Given the description of an element on the screen output the (x, y) to click on. 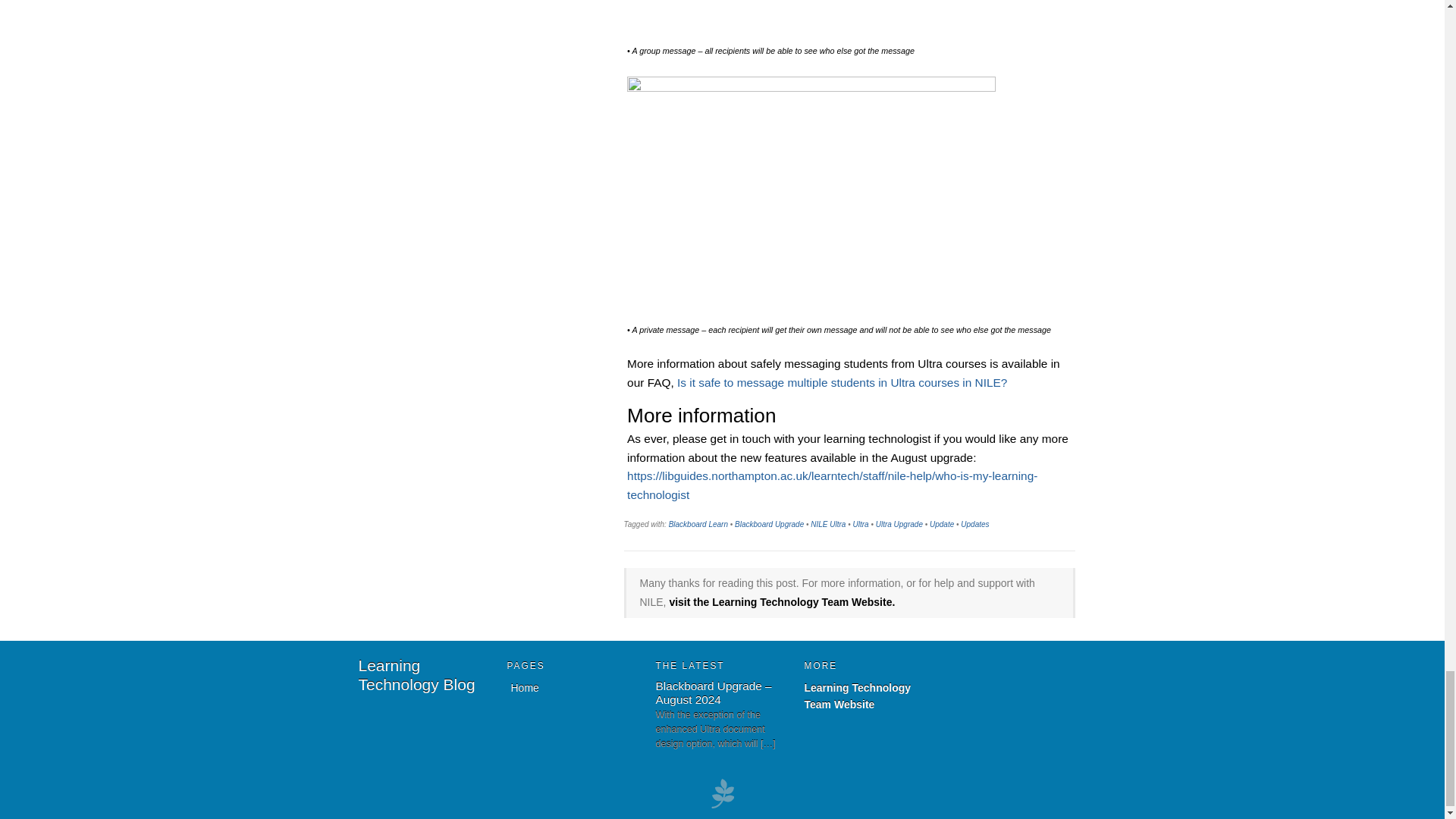
Ultra (859, 524)
Ultra Upgrade (899, 524)
Update (941, 524)
visit the Learning Technology Team Website. (781, 602)
Platform by PageLines (722, 806)
NILE Ultra (827, 524)
Blackboard Upgrade (769, 524)
Blackboard Learn (698, 524)
Updates (974, 524)
